Given the description of an element on the screen output the (x, y) to click on. 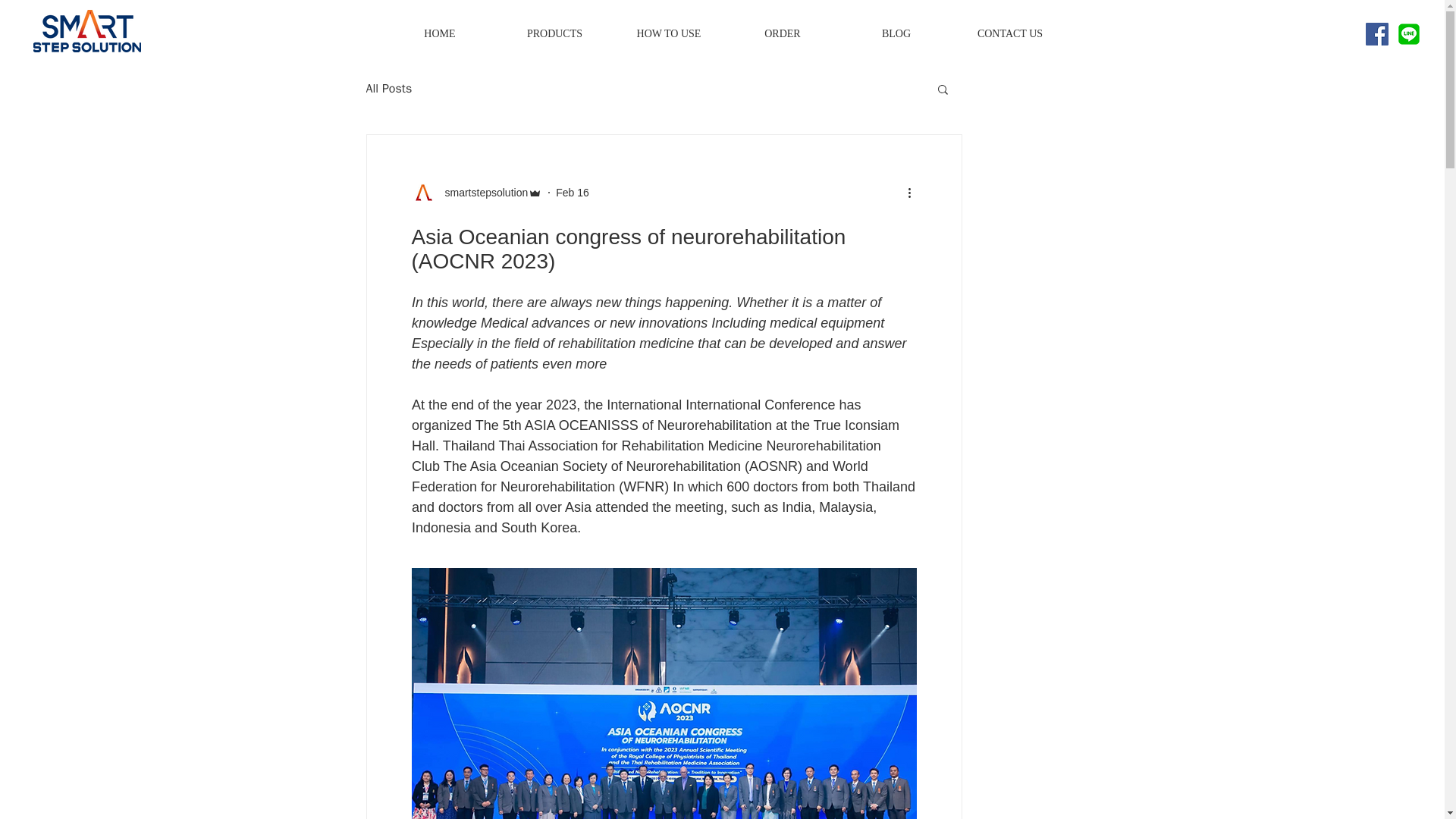
ORDER (781, 34)
smartstepsolution (475, 192)
All Posts (388, 88)
smartstepsolution (481, 192)
BLOG (895, 34)
PRODUCTS (553, 34)
CONTACT US (1008, 34)
HOW TO USE (668, 34)
Feb 16 (572, 192)
HOME (438, 34)
